Given the description of an element on the screen output the (x, y) to click on. 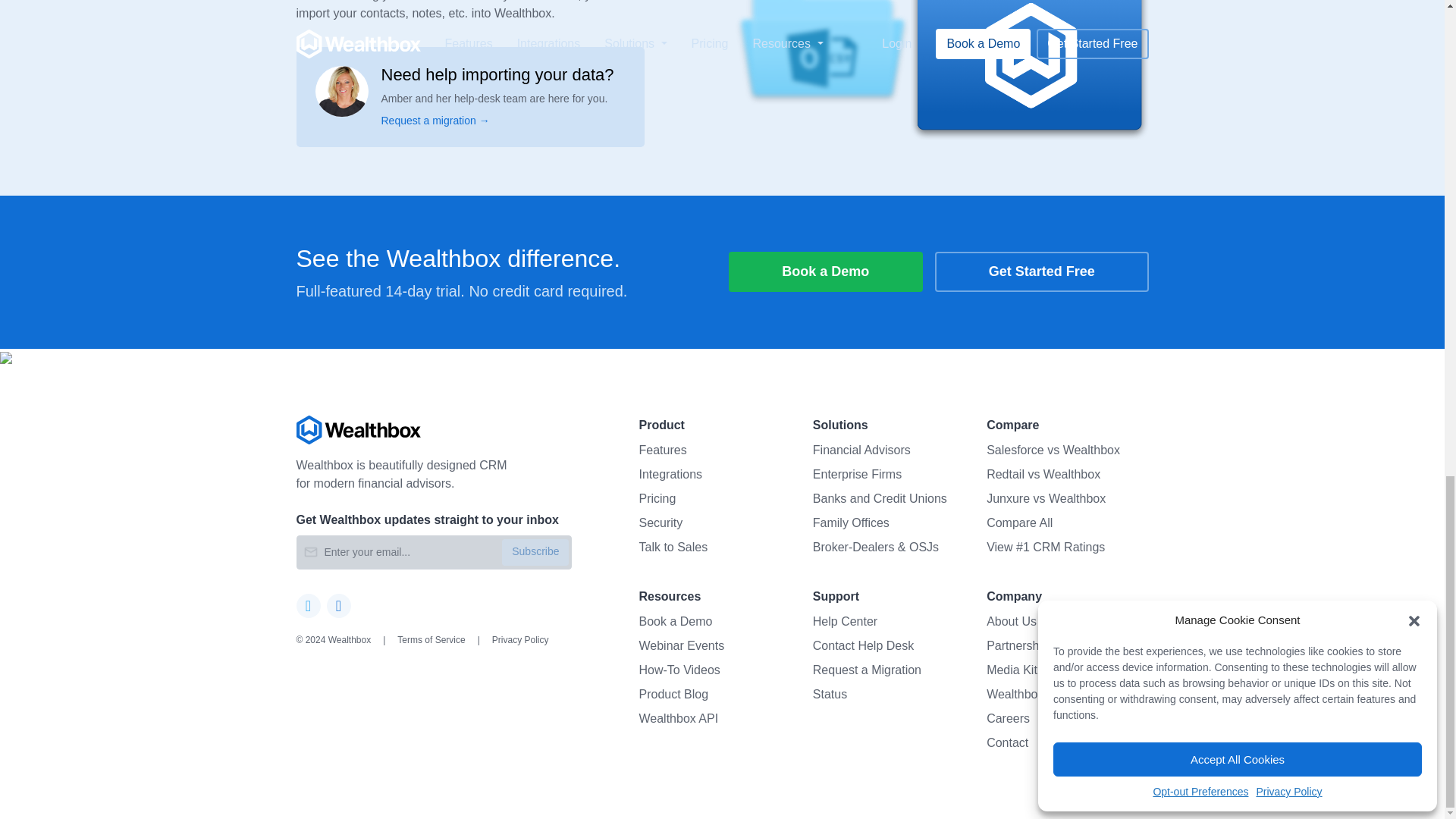
Wealthbox CRM Logo (433, 429)
Get Started Free (1041, 271)
Subscribe (535, 551)
Book a Demo (825, 271)
Wealthbox CRM Logo (357, 429)
